Given the description of an element on the screen output the (x, y) to click on. 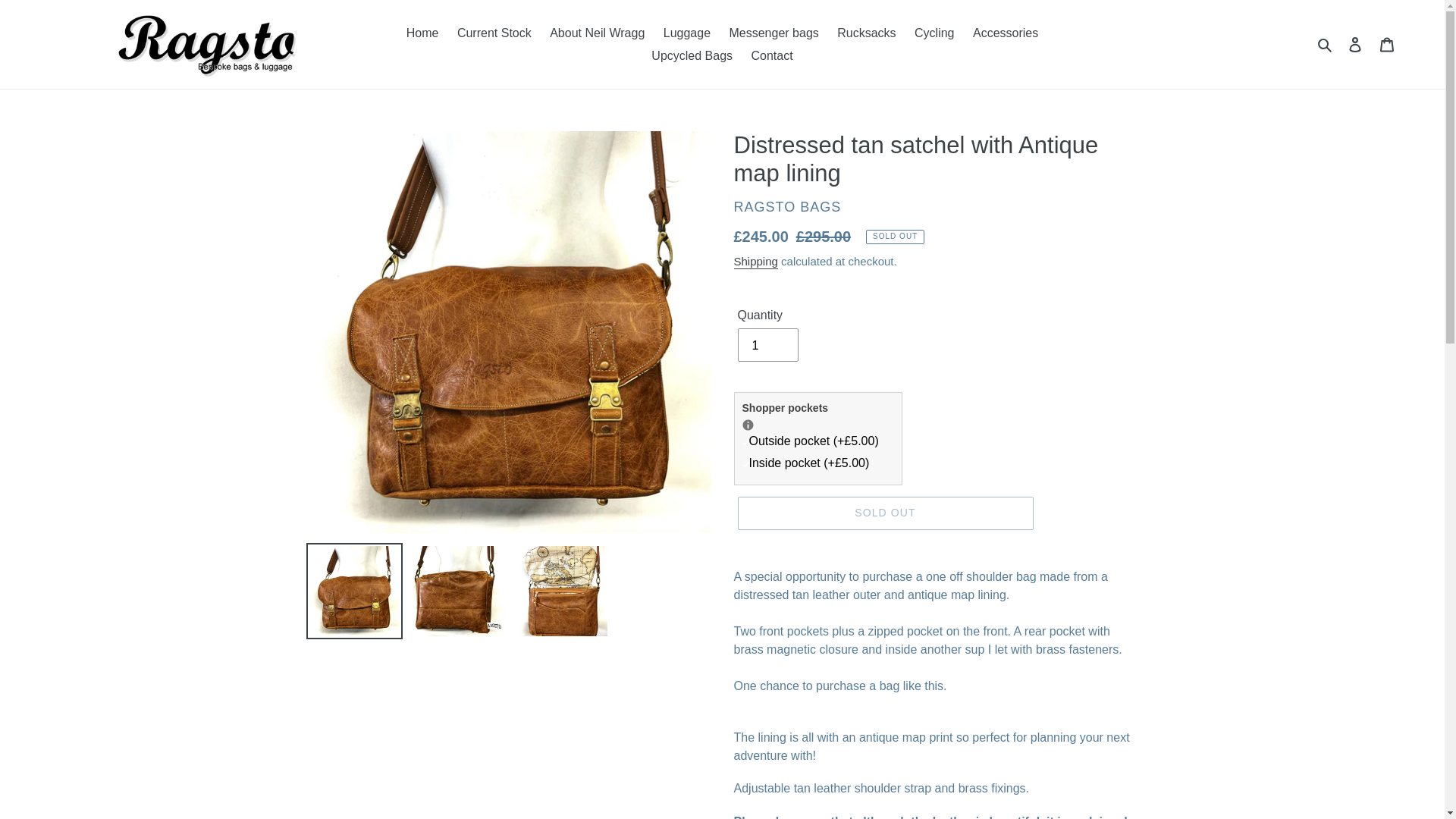
Cart (1387, 43)
Home (422, 32)
Rucksacks (865, 32)
Luggage (686, 32)
Cycling (933, 32)
Upcycled Bags (691, 55)
1 (766, 344)
Contact (772, 55)
Messenger bags (772, 32)
Accessories (1005, 32)
Search (1326, 44)
Current Stock (493, 32)
About Neil Wragg (596, 32)
Log in (1355, 43)
SOLD OUT (884, 512)
